Given the description of an element on the screen output the (x, y) to click on. 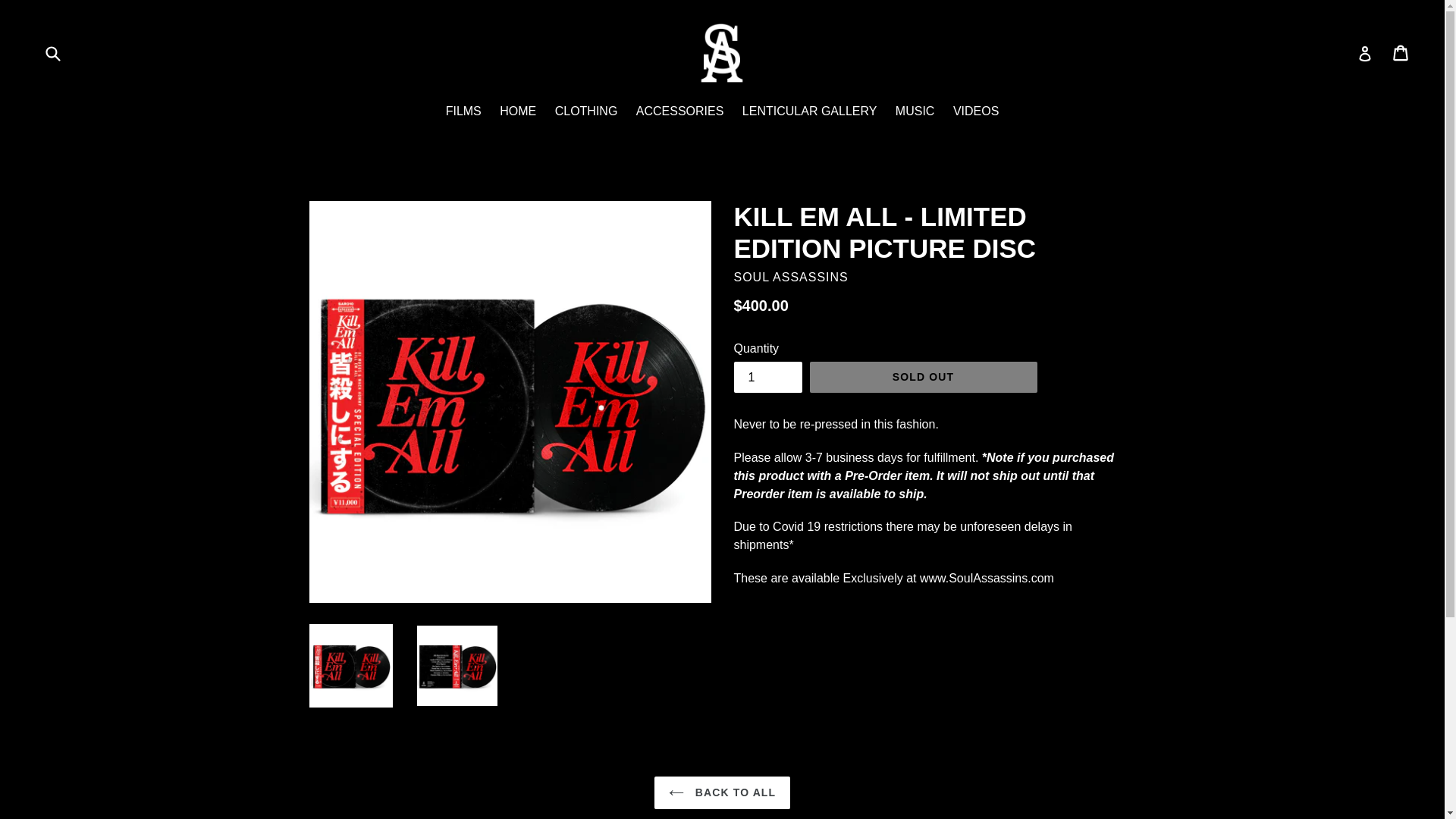
FILMS (463, 112)
1 (767, 377)
ACCESSORIES (680, 112)
VIDEOS (975, 112)
HOME (517, 112)
BACK TO ALL (721, 792)
MUSIC (915, 112)
CLOTHING (586, 112)
LENTICULAR GALLERY (810, 112)
SOLD OUT (922, 377)
